Given the description of an element on the screen output the (x, y) to click on. 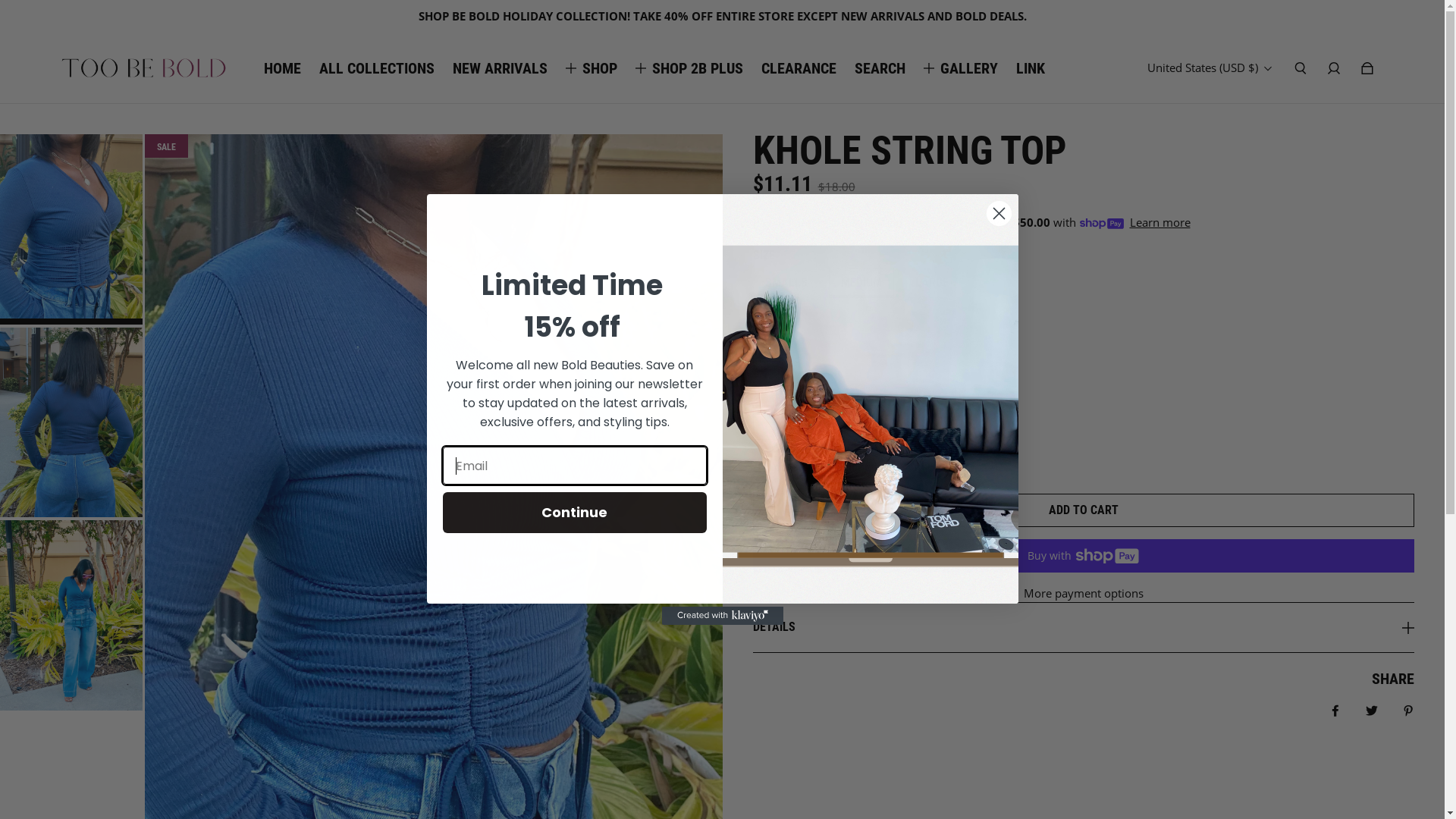
SHOP 2B PLUS Element type: text (697, 67)
More payment options Element type: text (1083, 593)
Share on Facebook Element type: text (1335, 709)
Tweet Element type: text (1371, 709)
LINK Element type: text (1030, 67)
GALLERY Element type: text (968, 67)
ADD TO CART Element type: text (1083, 510)
United States (USD $) Element type: text (1209, 67)
NEW ARRIVALS Element type: text (499, 67)
CLEARANCE Element type: text (798, 67)
HOME Element type: text (282, 67)
SEARCH Element type: text (879, 67)
ALL COLLECTIONS Element type: text (376, 67)
SHOP Element type: text (599, 67)
Pin it Element type: text (1408, 709)
